Given the description of an element on the screen output the (x, y) to click on. 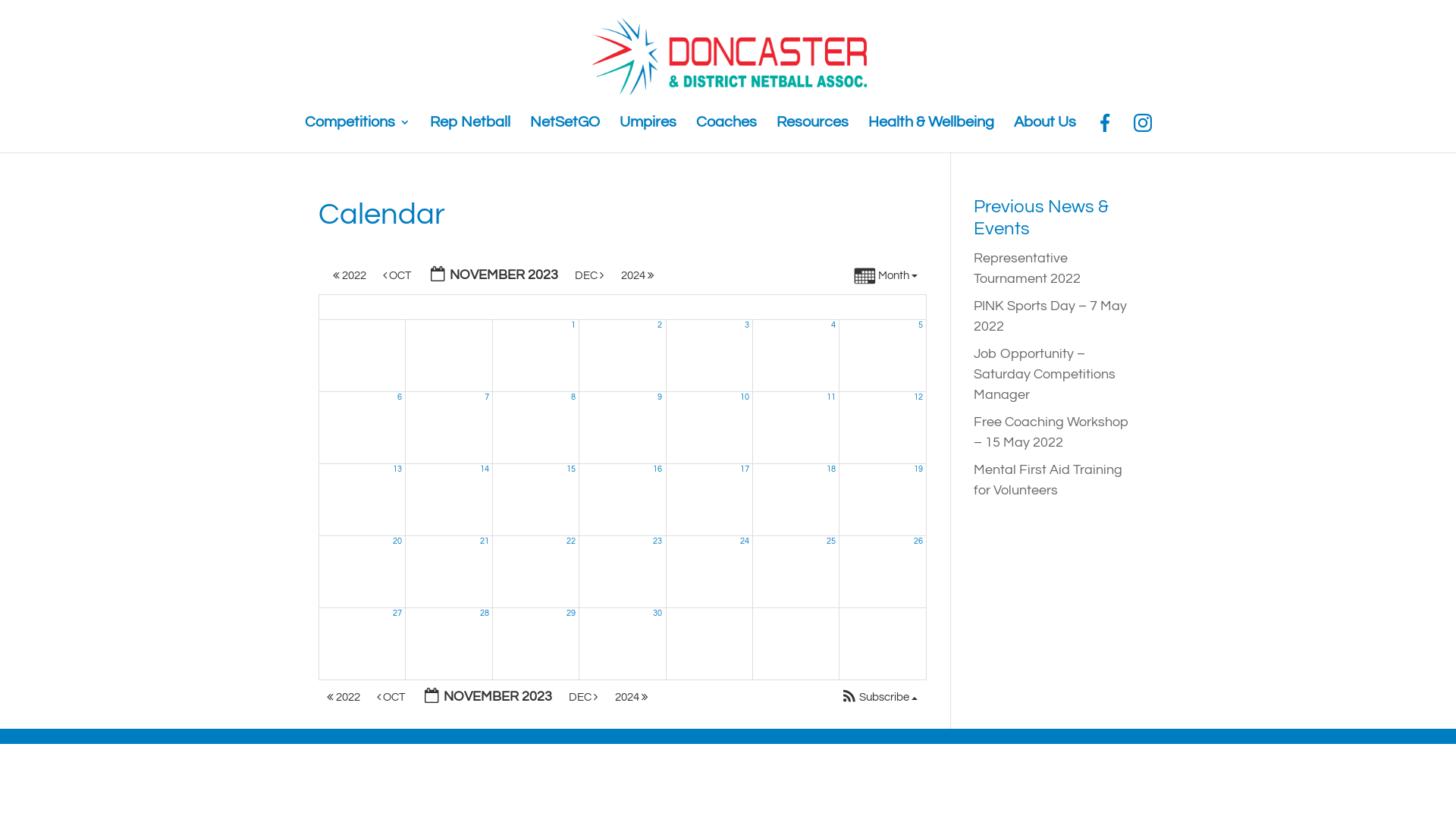
22 Element type: text (570, 540)
DEC Element type: text (589, 276)
OCT Element type: text (397, 276)
16 Element type: text (657, 468)
6 Element type: text (399, 396)
1 Element type: text (573, 324)
Resources Element type: text (812, 131)
29 Element type: text (570, 612)
9 Element type: text (659, 396)
2022 Element type: text (343, 697)
26 Element type: text (917, 540)
14 Element type: text (484, 468)
21 Element type: text (484, 540)
5 Element type: text (920, 324)
2024 Element type: text (637, 276)
11 Element type: text (830, 396)
NOVEMBER 2023 Element type: text (493, 276)
8 Element type: text (573, 396)
7 Element type: text (486, 396)
23 Element type: text (657, 540)
17 Element type: text (744, 468)
20 Element type: text (396, 540)
19 Element type: text (917, 468)
30 Element type: text (657, 612)
3 Element type: text (746, 324)
28 Element type: text (484, 612)
27 Element type: text (396, 612)
25 Element type: text (830, 540)
2024 Element type: text (631, 697)
2022 Element type: text (349, 276)
About Us Element type: text (1044, 131)
18 Element type: text (830, 468)
12 Element type: text (917, 396)
24 Element type: text (744, 540)
NOVEMBER 2023 Element type: text (487, 697)
Health & Wellbeing Element type: text (930, 131)
15 Element type: text (570, 468)
DEC Element type: text (583, 697)
Umpires Element type: text (646, 131)
13 Element type: text (396, 468)
NetSetGO Element type: text (564, 131)
10 Element type: text (744, 396)
Representative Tournament 2022 Element type: text (1026, 268)
Rep Netball Element type: text (469, 131)
Mental First Aid Training for Volunteers Element type: text (1047, 479)
Month Element type: text (885, 277)
Competitions Element type: text (357, 131)
Coaches Element type: text (726, 131)
2 Element type: text (659, 324)
4 Element type: text (833, 324)
OCT Element type: text (391, 697)
